Given the description of an element on the screen output the (x, y) to click on. 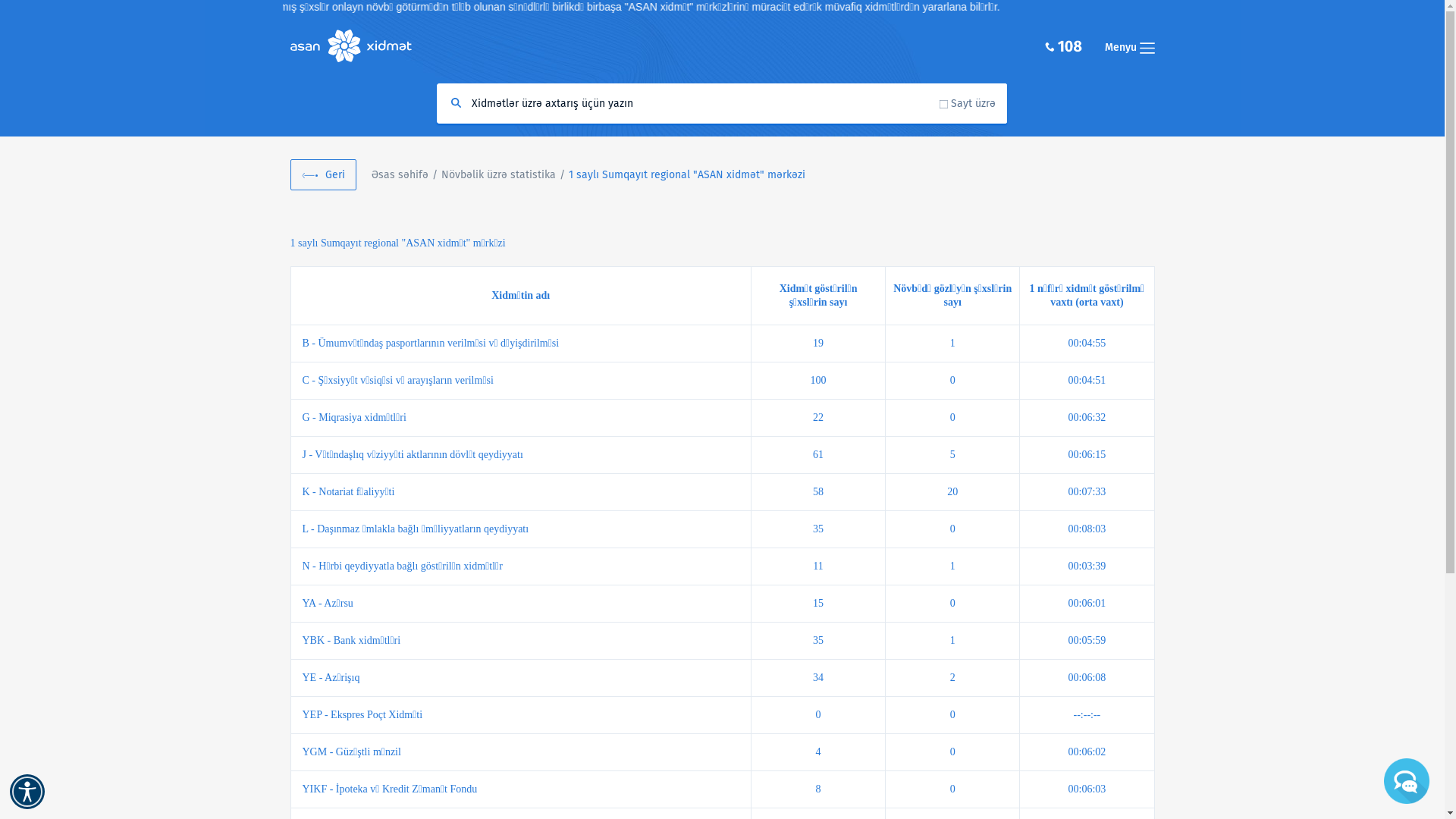
Menyu Element type: text (1129, 46)
Geri Element type: text (322, 174)
